Given the description of an element on the screen output the (x, y) to click on. 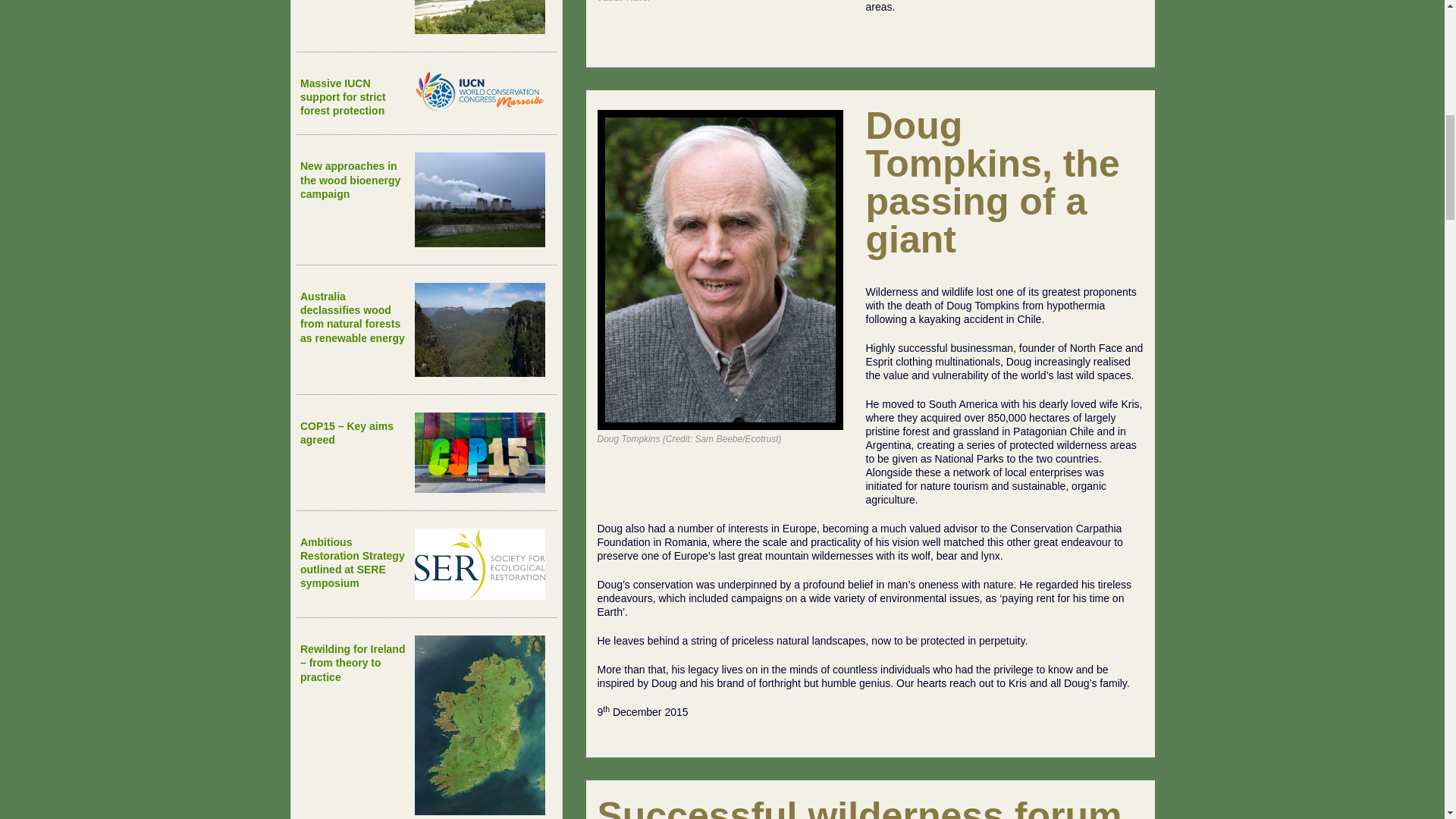
New approaches in the wood bioenergy campaign (349, 179)
Massive IUCN support for strict forest protection (342, 96)
